Given the description of an element on the screen output the (x, y) to click on. 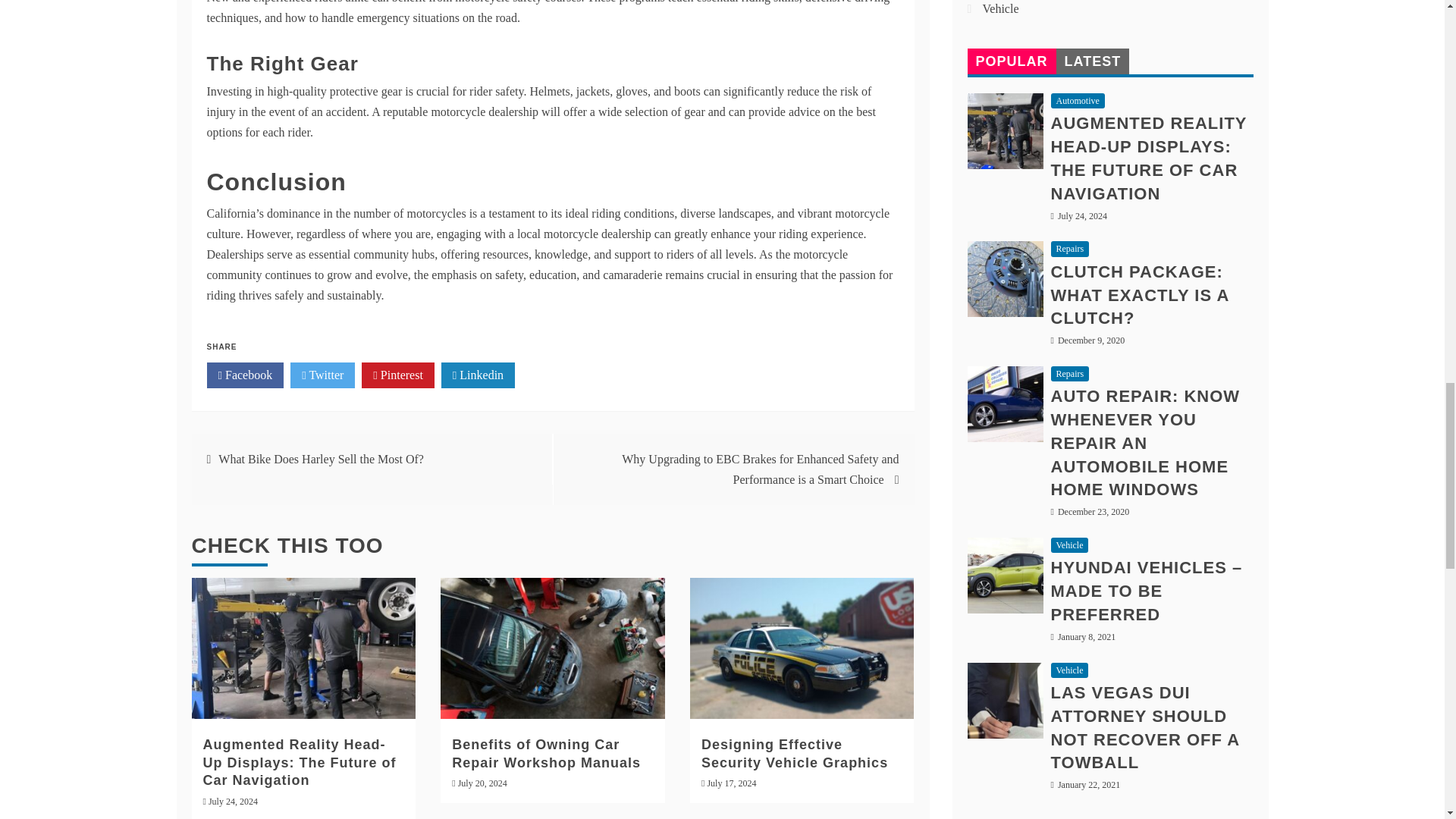
Facebook (244, 375)
Twitter (322, 375)
July 20, 2024 (482, 783)
Benefits of Owning Car Repair Workshop Manuals (545, 753)
Linkedin (478, 375)
What Bike Does Harley Sell the Most Of? (320, 459)
Designing Effective Security Vehicle Graphics (794, 753)
Pinterest (397, 375)
July 24, 2024 (232, 801)
July 17, 2024 (730, 783)
